Given the description of an element on the screen output the (x, y) to click on. 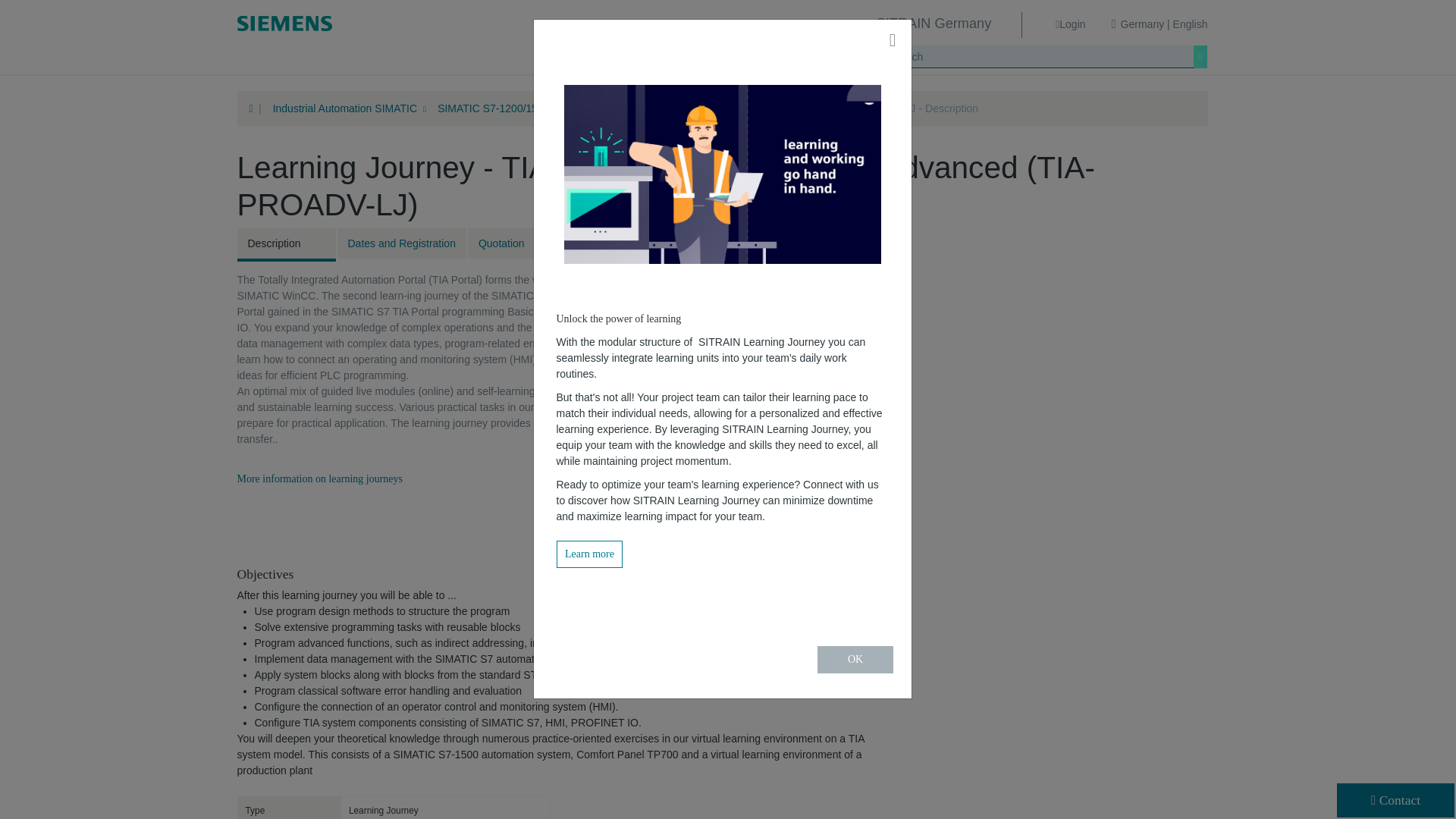
More information on learning journeys (319, 478)
Quotation (516, 242)
also available as face-to-face training (718, 526)
Industrial Automation SIMATIC (349, 108)
Contact (1395, 799)
Contact (1395, 799)
Learning Path (616, 242)
Dates and Registration (400, 242)
SIMATIC S7 Programming in TIA Portal (727, 108)
Login (1069, 24)
